Given the description of an element on the screen output the (x, y) to click on. 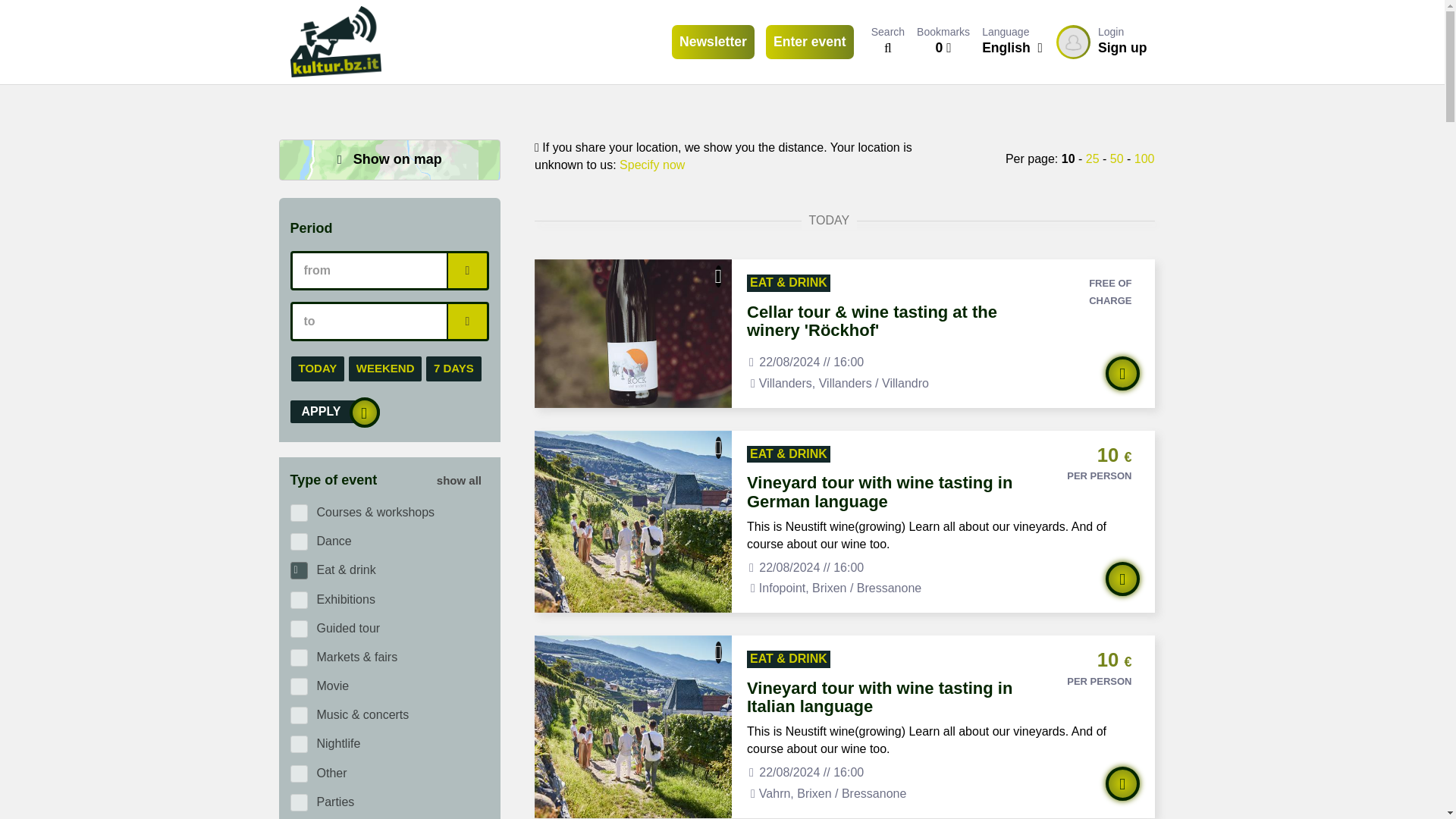
50 (1116, 158)
25 (1092, 158)
Enter event (809, 41)
APPLY   (333, 411)
Vineyard tour with wine tasting in German language (887, 505)
Vineyard tour with wine tasting in Italian language (887, 710)
100 (1101, 42)
show all (1144, 158)
Newsletter (459, 480)
